Given the description of an element on the screen output the (x, y) to click on. 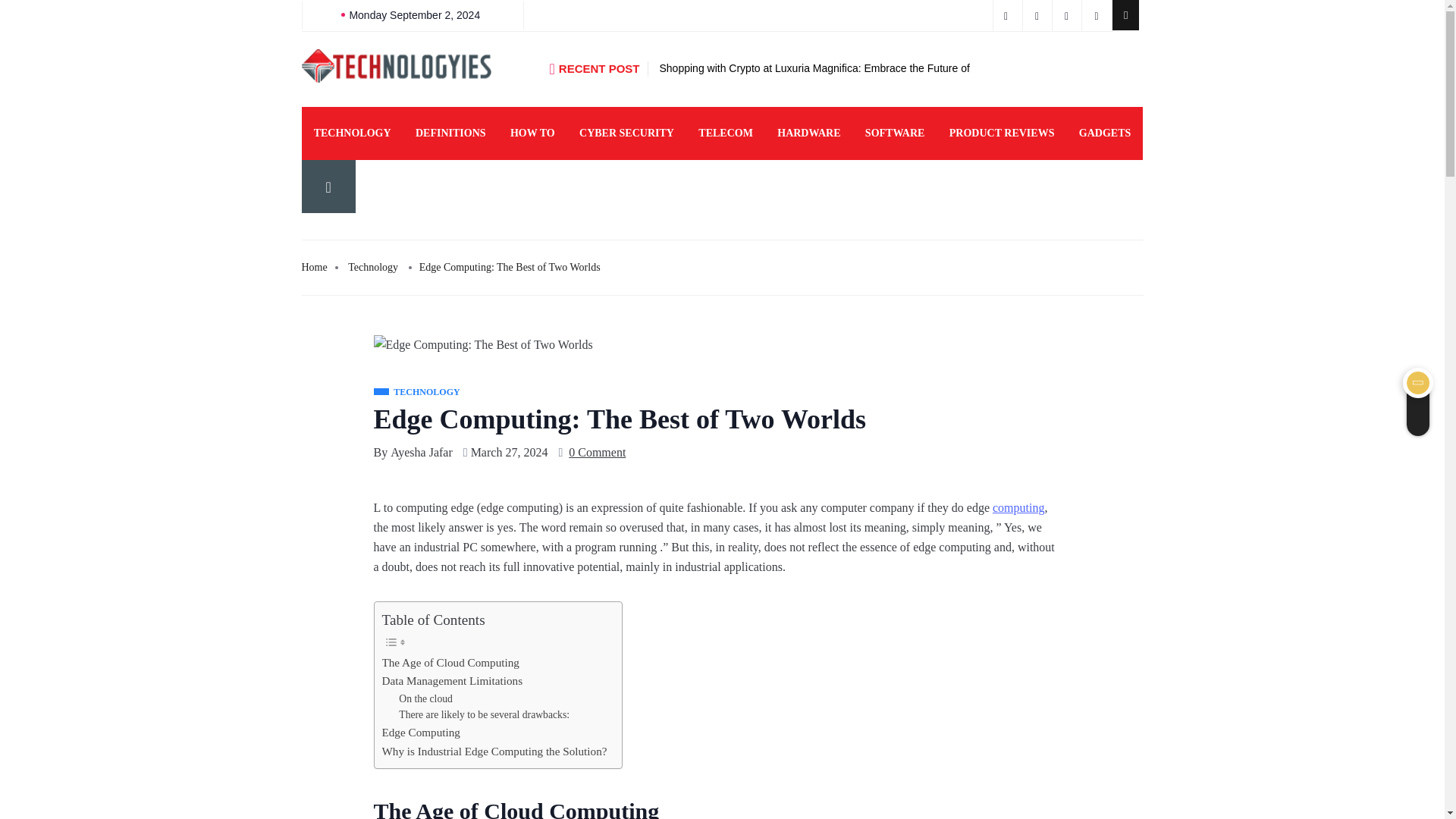
DEFINITIONS (450, 133)
TECHNOLOGY (352, 133)
